Given the description of an element on the screen output the (x, y) to click on. 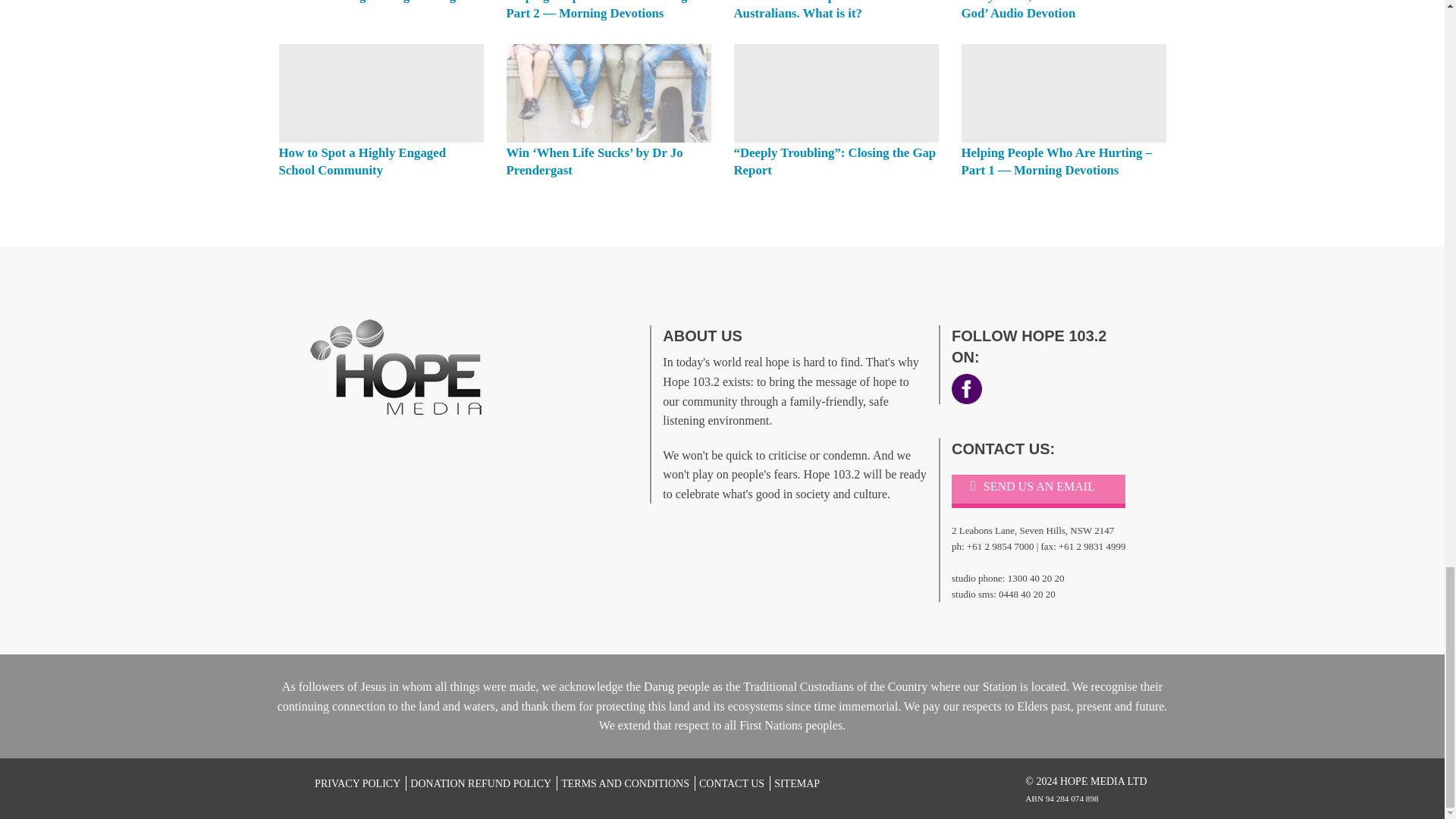
Event: Thriving Through Change (370, 1)
Birth Trauma Impacts 1 in 3 Australians. What is it? (811, 10)
How to Spot a Highly Engaged School Community (362, 161)
How to Spot a Highly Engaged School Community (381, 93)
